Given the description of an element on the screen output the (x, y) to click on. 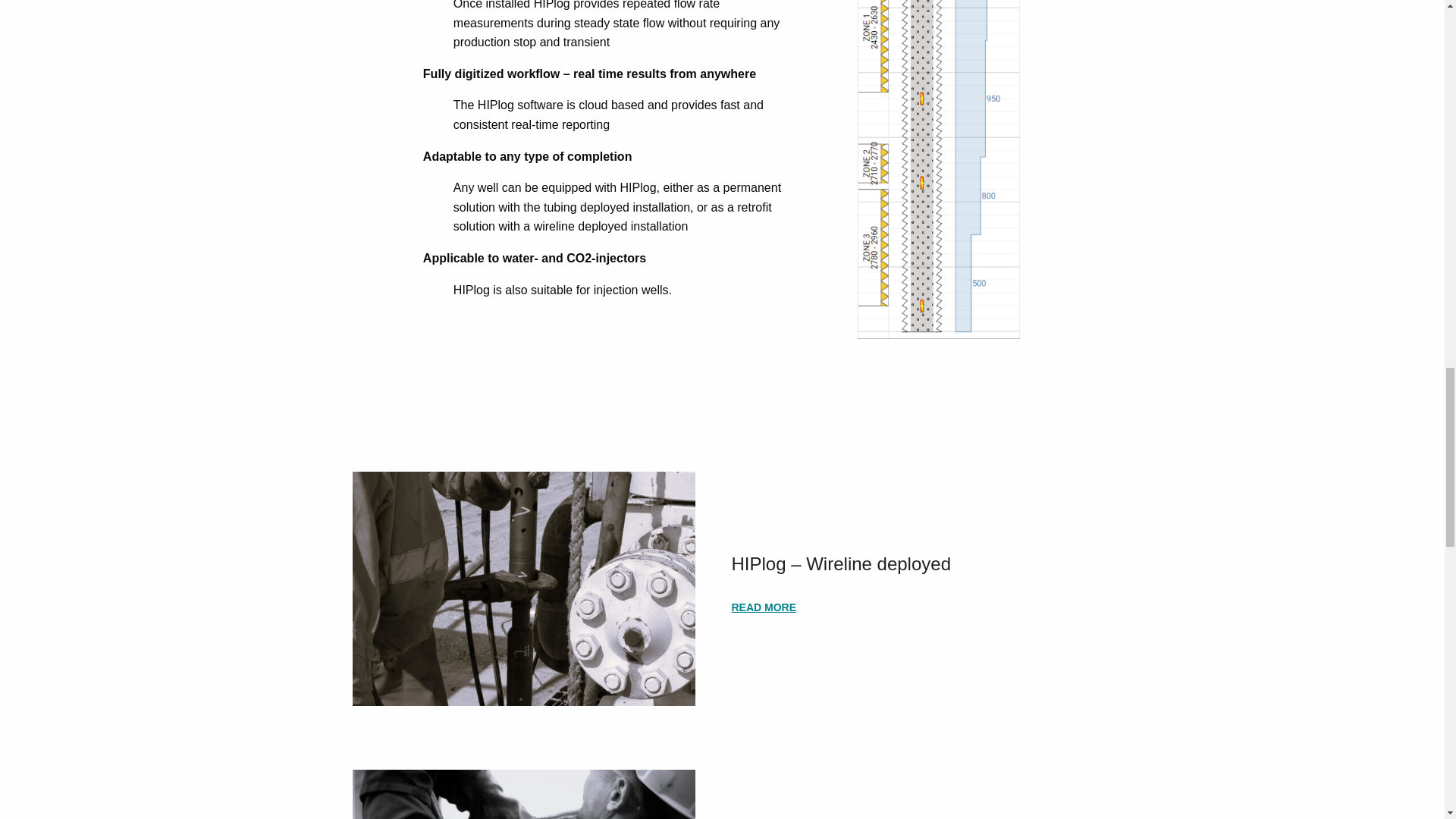
READ MORE (763, 607)
